Given the description of an element on the screen output the (x, y) to click on. 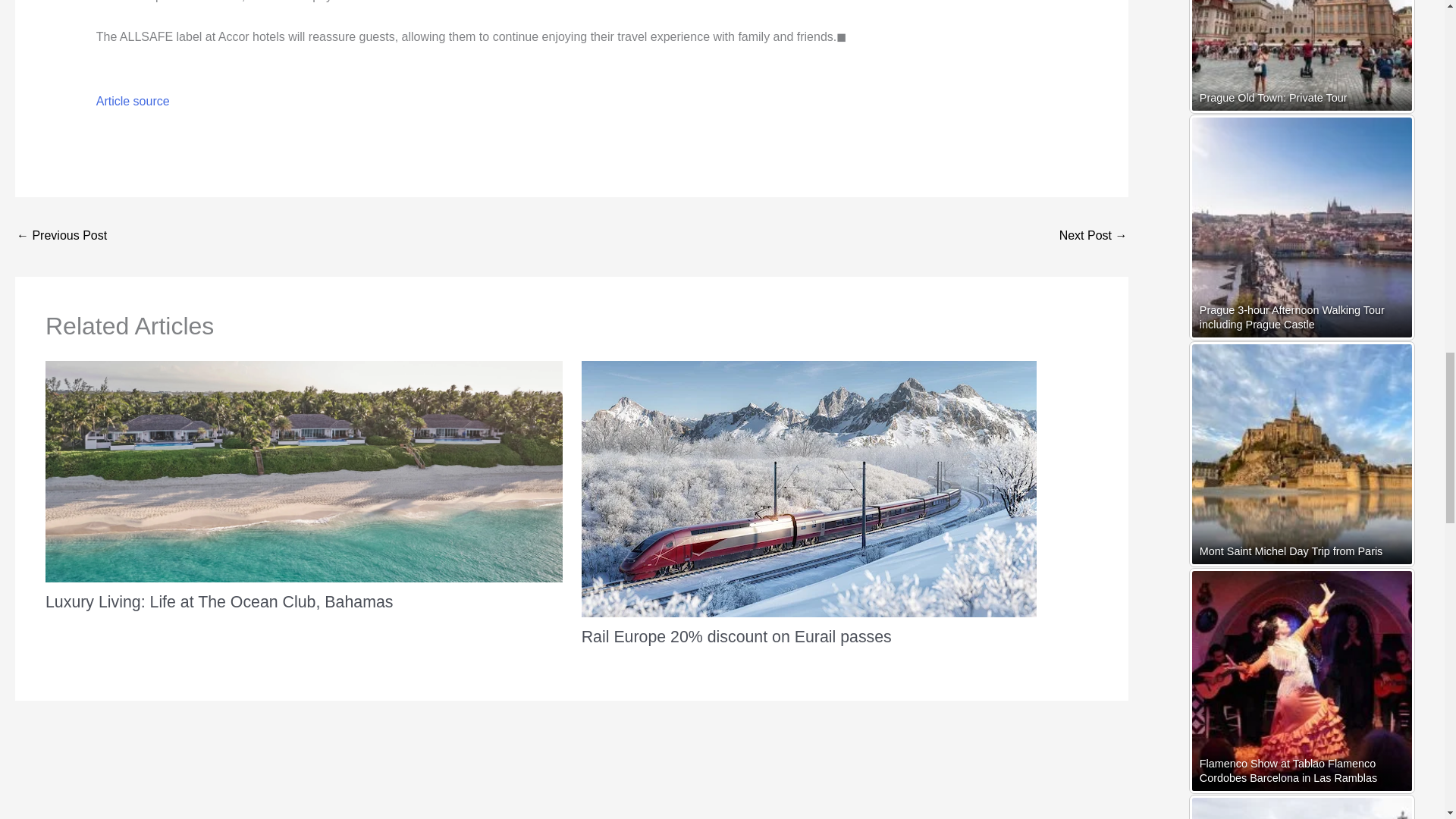
This Museum in Spain is now open (1092, 236)
A Genre-Defying Exhibition at Peres Projects (61, 236)
